Given the description of an element on the screen output the (x, y) to click on. 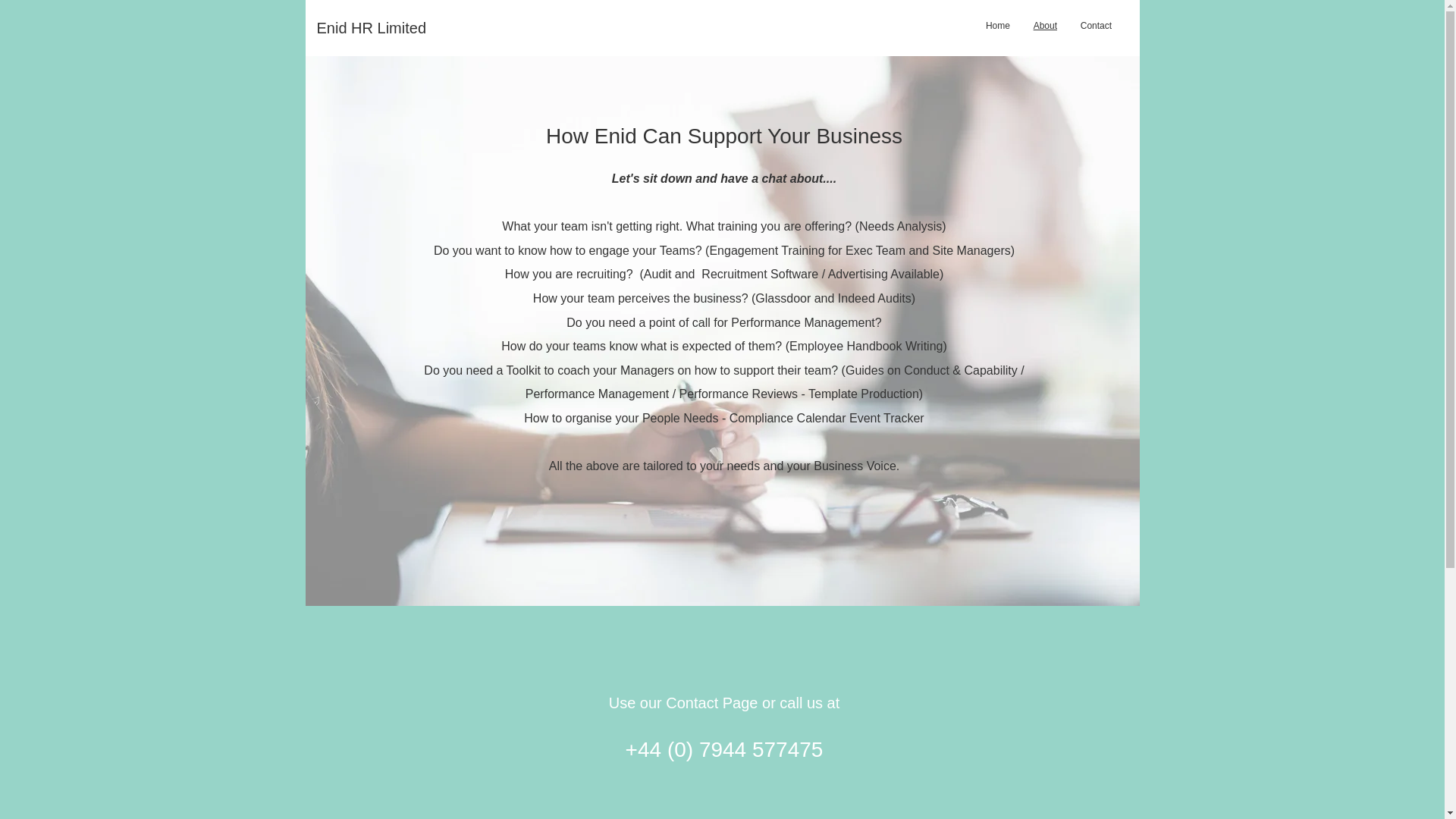
Home (998, 25)
Contact (1095, 25)
About (1045, 24)
